Given the description of an element on the screen output the (x, y) to click on. 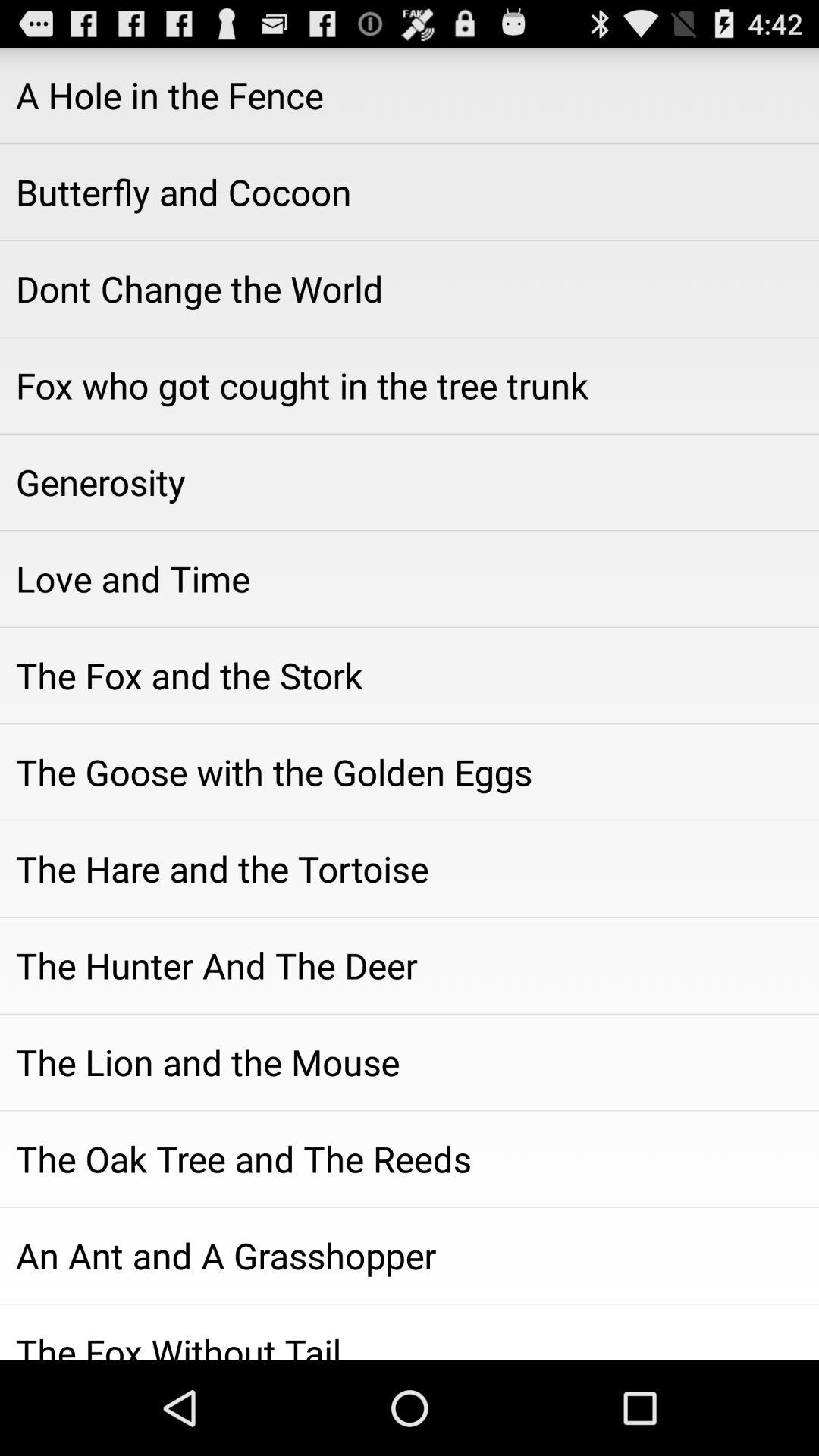
click the icon below dont change the icon (409, 385)
